Given the description of an element on the screen output the (x, y) to click on. 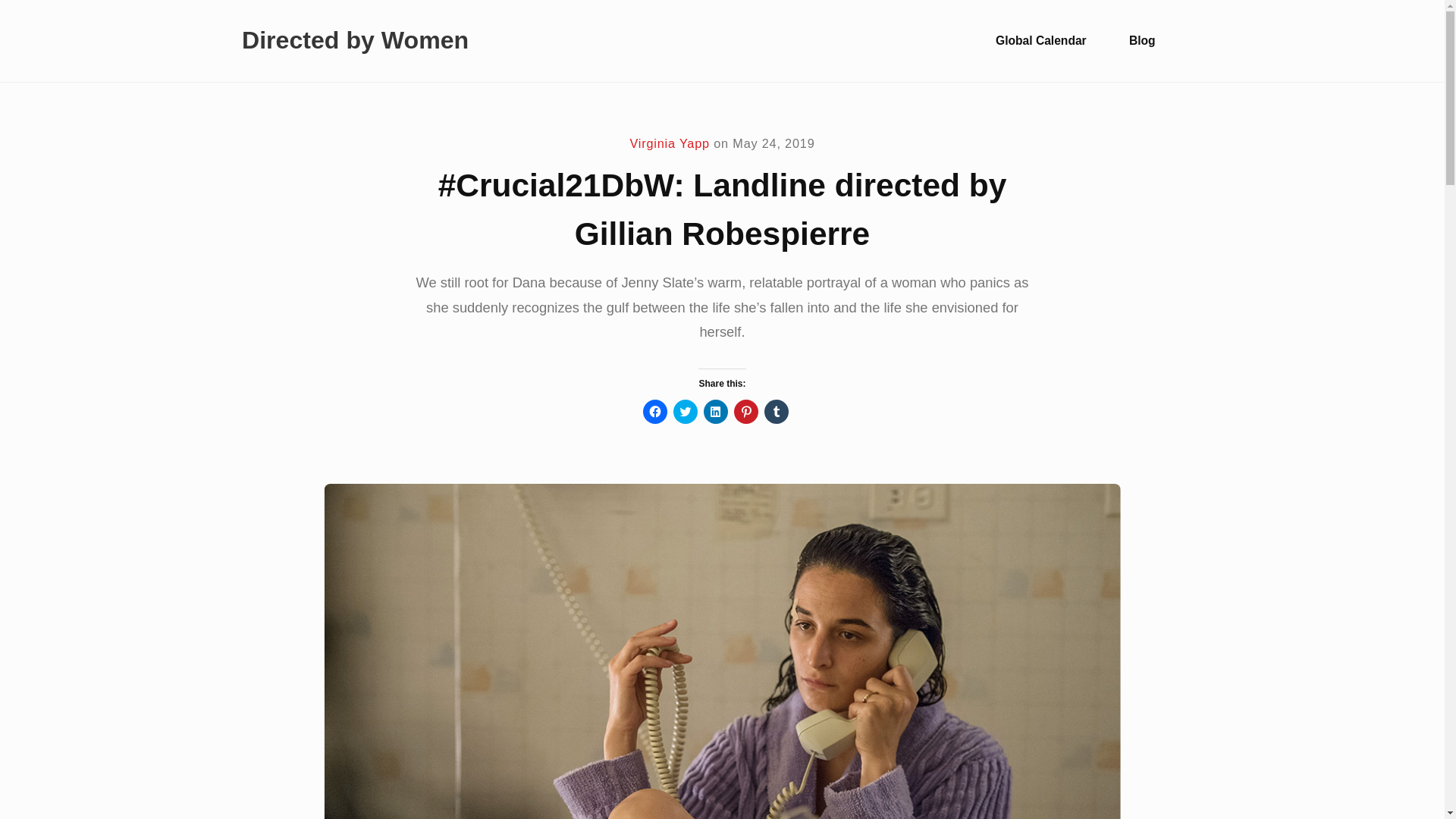
Click to share on Tumblr (776, 411)
Click to share on LinkedIn (715, 411)
Click to share on Twitter (684, 411)
Click to share on Facebook (654, 411)
Virginia Yapp (668, 142)
SHOW SECONDARY SIDEBAR (1195, 41)
Click to share on Pinterest (745, 411)
